Given the description of an element on the screen output the (x, y) to click on. 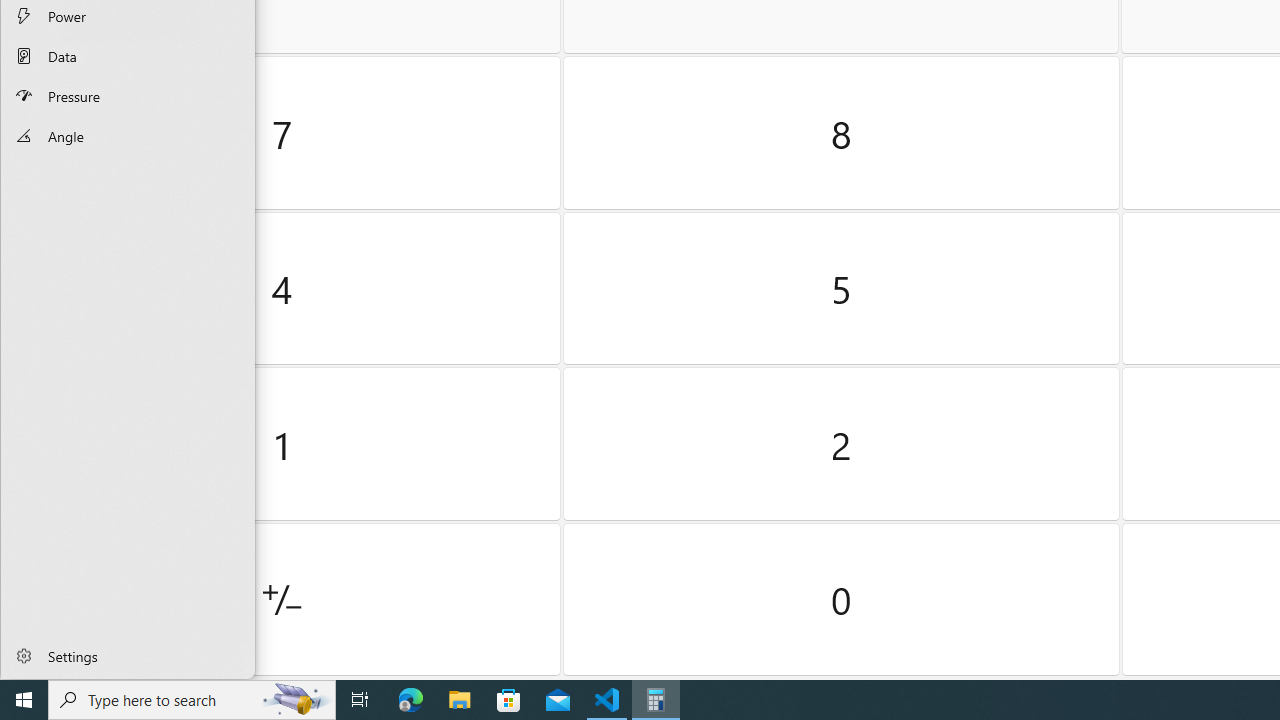
Two (841, 444)
One (281, 444)
Seven (281, 133)
Settings (127, 655)
Data Converter (127, 56)
